Given the description of an element on the screen output the (x, y) to click on. 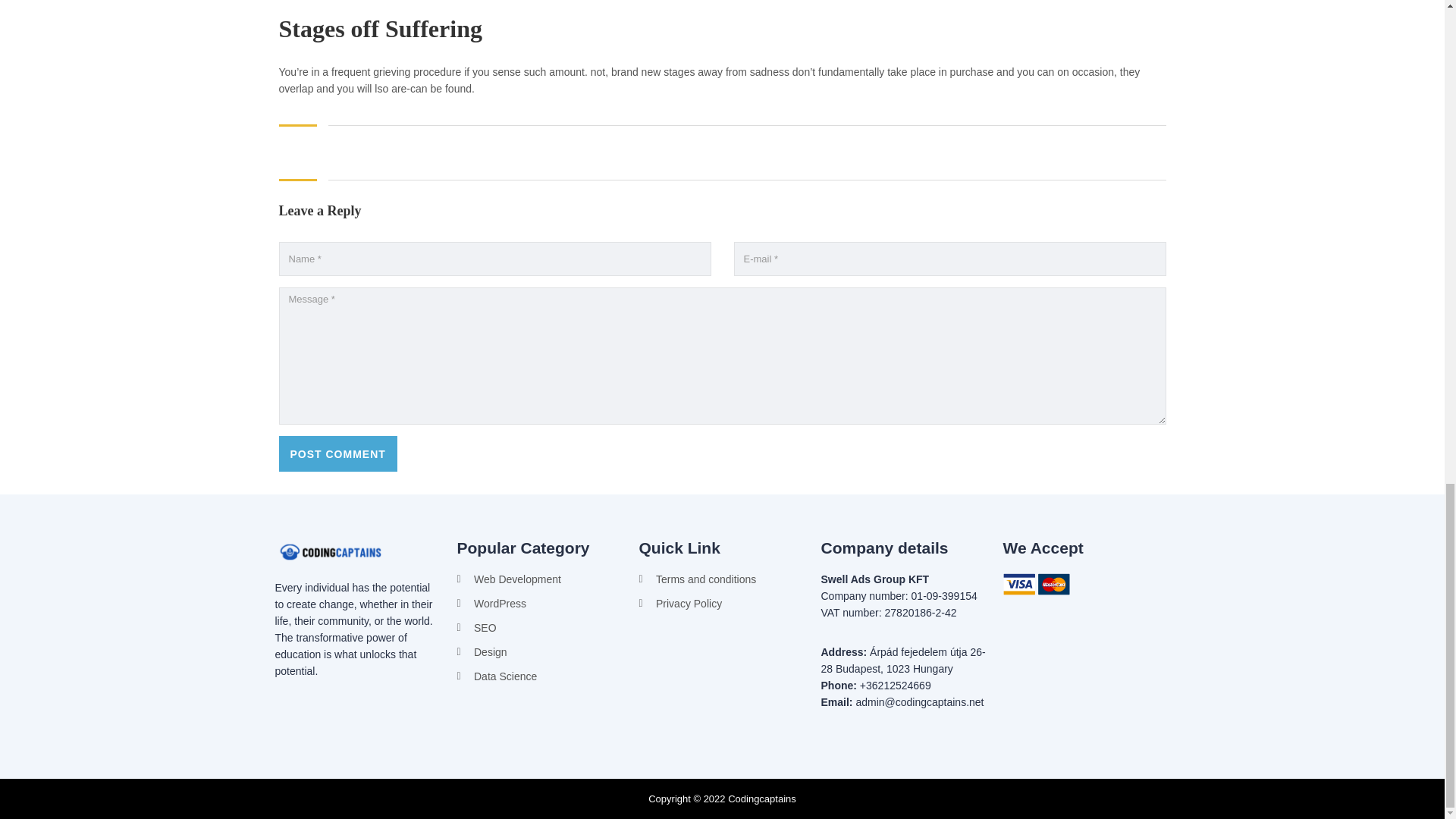
Privacy Policy (722, 603)
Post Comment (338, 453)
Web Development (540, 579)
WordPress (540, 603)
Design (540, 651)
SEO (540, 627)
Post Comment (338, 453)
Data Science (540, 676)
Terms and conditions (722, 579)
